Given the description of an element on the screen output the (x, y) to click on. 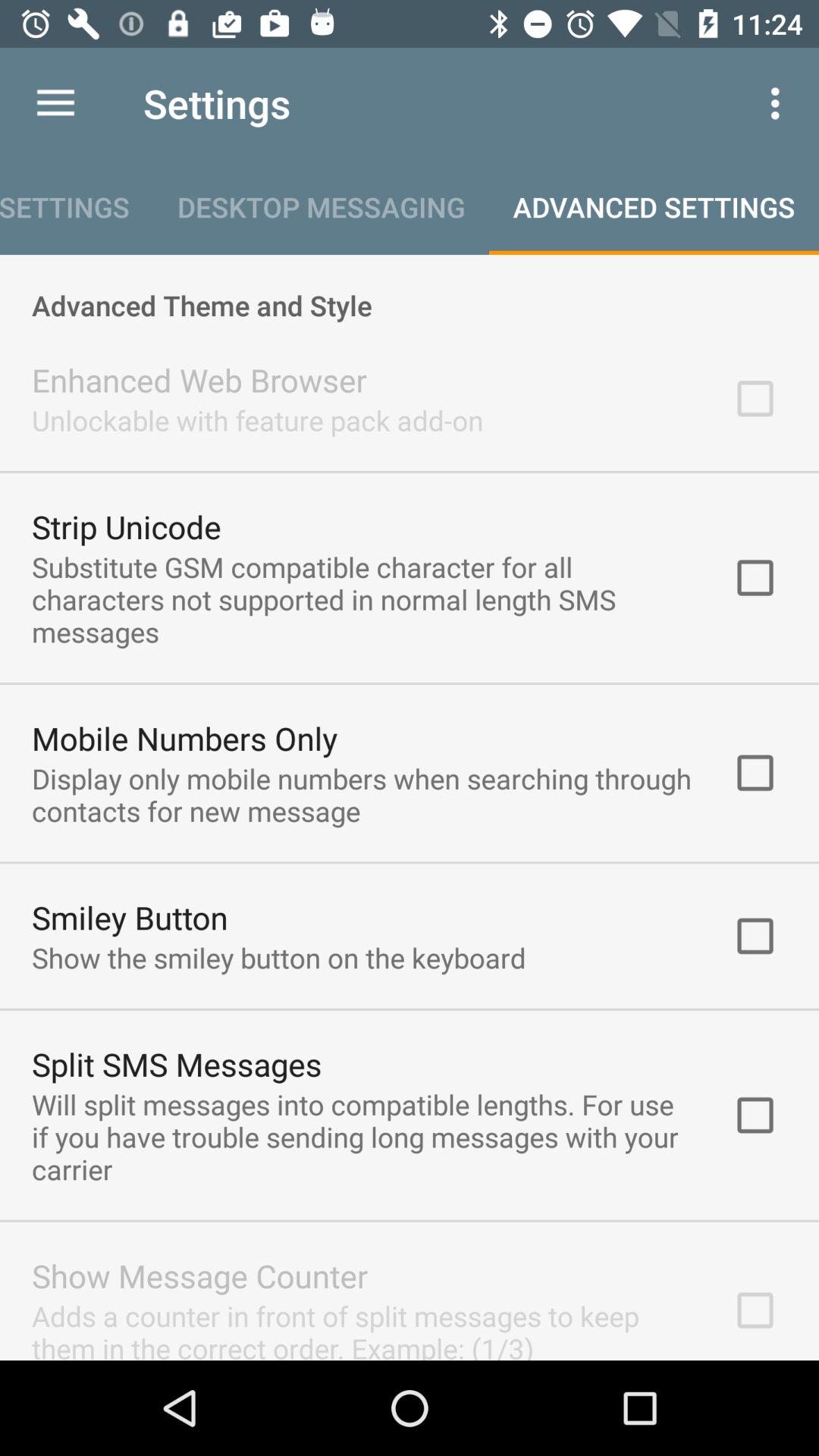
scroll to enhanced web browser item (198, 379)
